Given the description of an element on the screen output the (x, y) to click on. 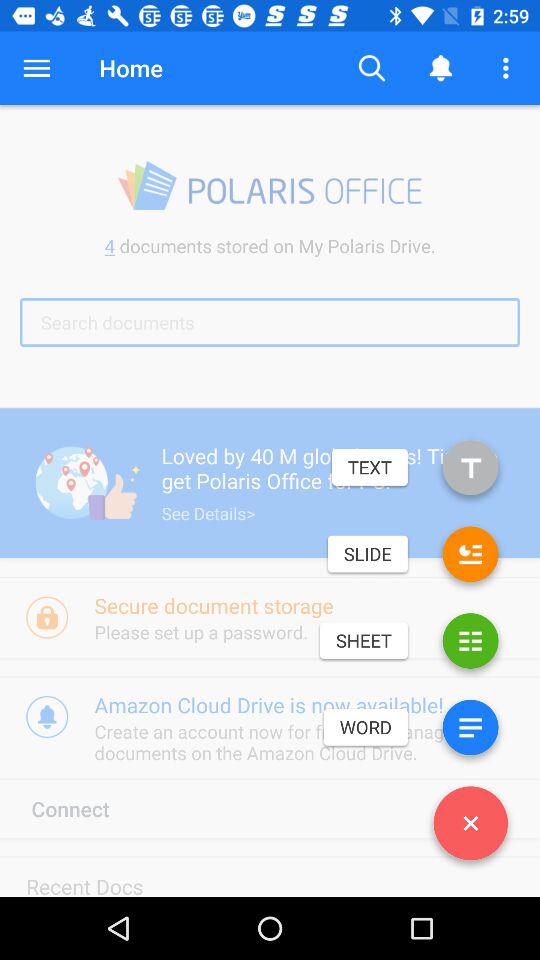
turn on the icon to the left of home (36, 68)
